Given the description of an element on the screen output the (x, y) to click on. 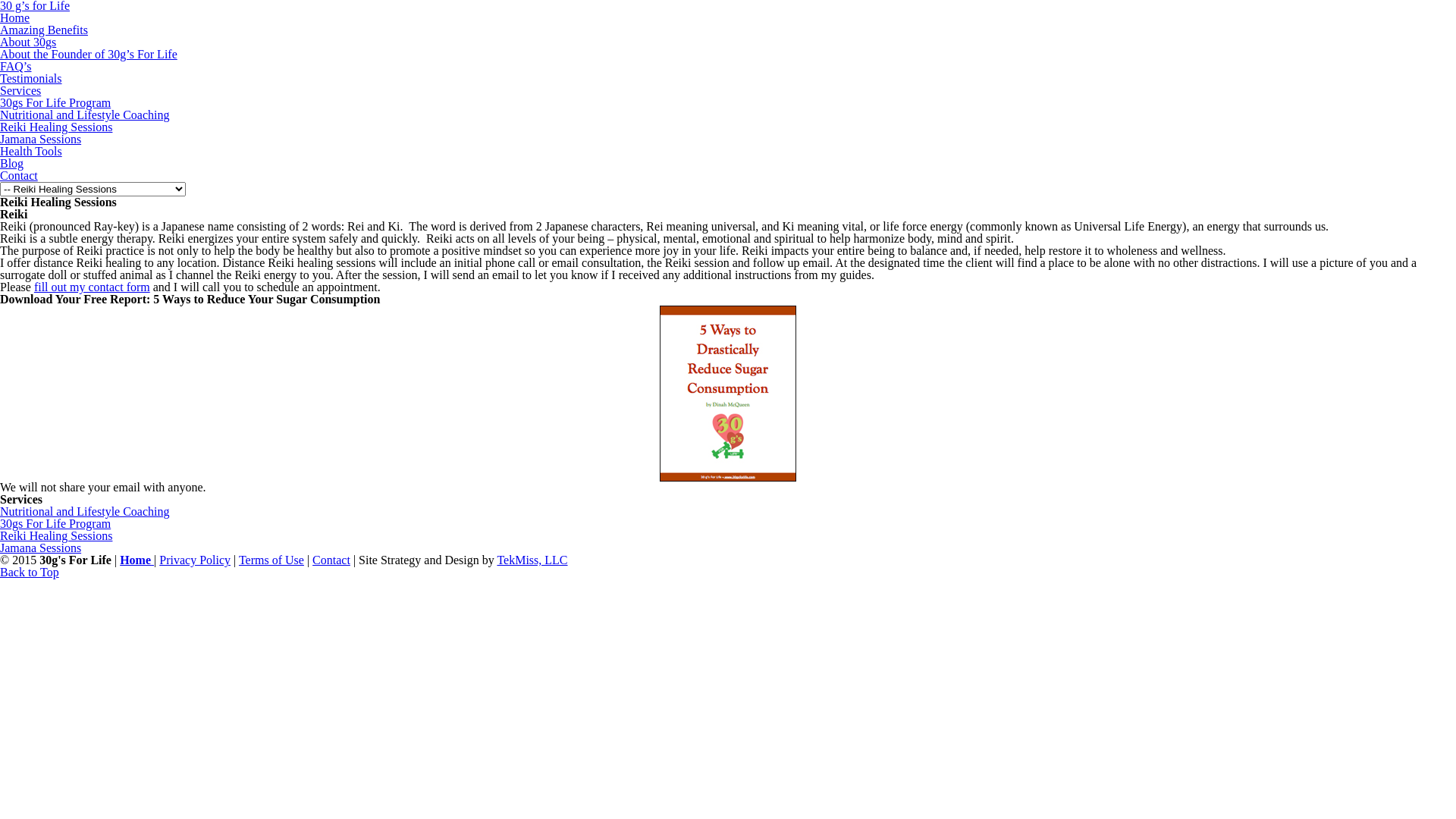
About 30gs Element type: text (28, 41)
Privacy Policy Element type: text (194, 559)
Testimonials Element type: text (31, 78)
30gs For Life Program Element type: text (55, 102)
Reiki Healing Sessions Element type: text (56, 126)
Nutritional and Lifestyle Coaching Element type: text (84, 114)
Nutritional and Lifestyle Coaching Element type: text (84, 511)
Contact Element type: text (331, 559)
30gs For Life Program Element type: text (55, 523)
Health Tools Element type: text (31, 150)
TekMiss, LLC Element type: text (531, 559)
Services Element type: text (20, 90)
fill out my contact form Element type: text (92, 286)
Jamana Sessions Element type: text (40, 547)
Back to Top Element type: text (29, 571)
Blog Element type: text (11, 162)
Terms of Use Element type: text (271, 559)
Jamana Sessions Element type: text (40, 138)
Home Element type: text (14, 17)
Reiki Healing Sessions Element type: text (56, 535)
Amazing Benefits Element type: text (43, 29)
Contact Element type: text (18, 175)
Home Element type: text (136, 559)
